Given the description of an element on the screen output the (x, y) to click on. 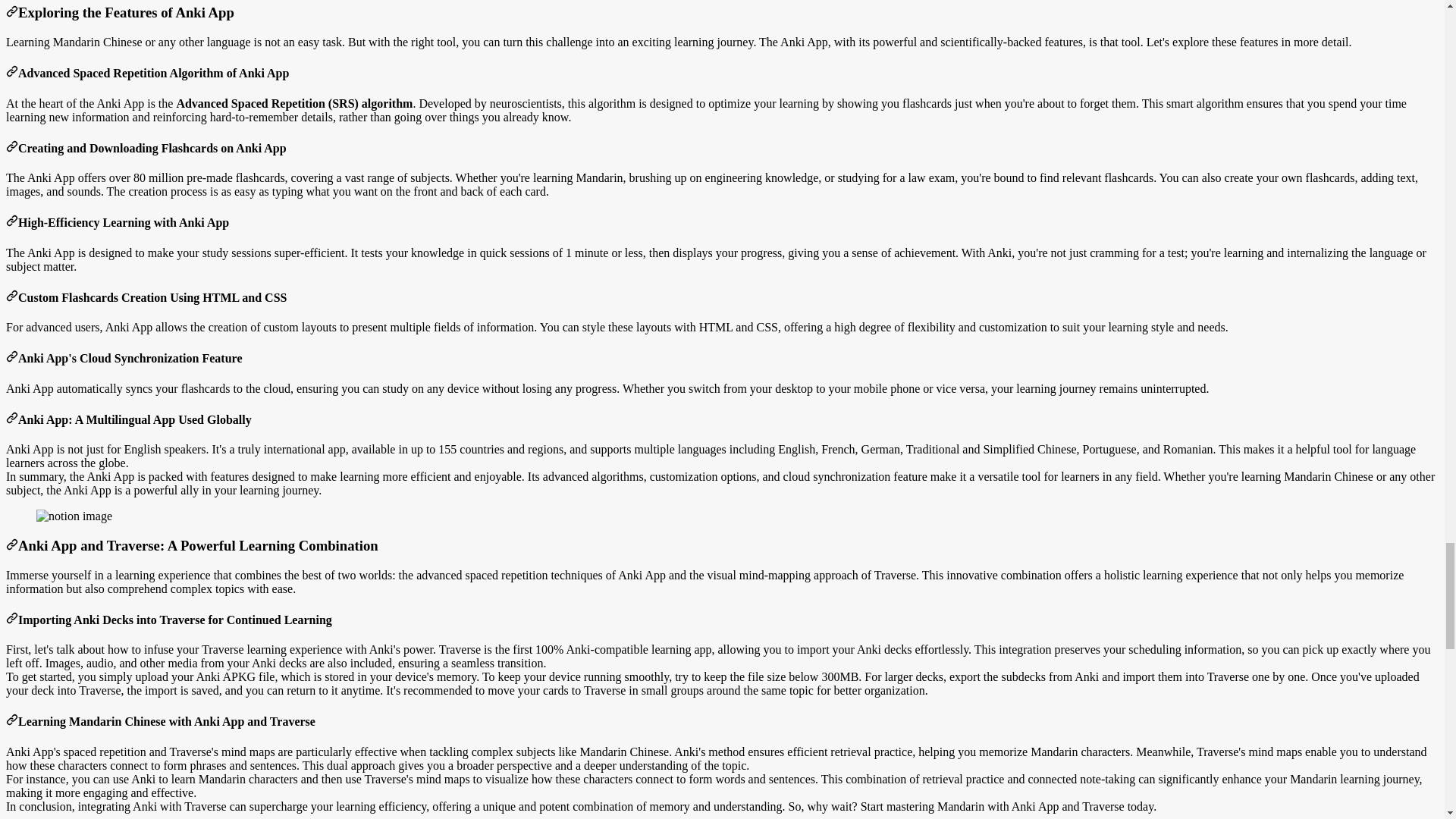
Custom Flashcards Creation Using HTML and CSS (11, 297)
Anki App: A Multilingual App Used Globally (11, 419)
Creating and Downloading Flashcards on Anki App (11, 147)
Advanced Spaced Repetition Algorithm of Anki App (11, 72)
Importing Anki Decks into Traverse for Continued Learning (11, 619)
High-Efficiency Learning with Anki App (11, 222)
Anki App's Cloud Synchronization Feature (11, 358)
